Given the description of an element on the screen output the (x, y) to click on. 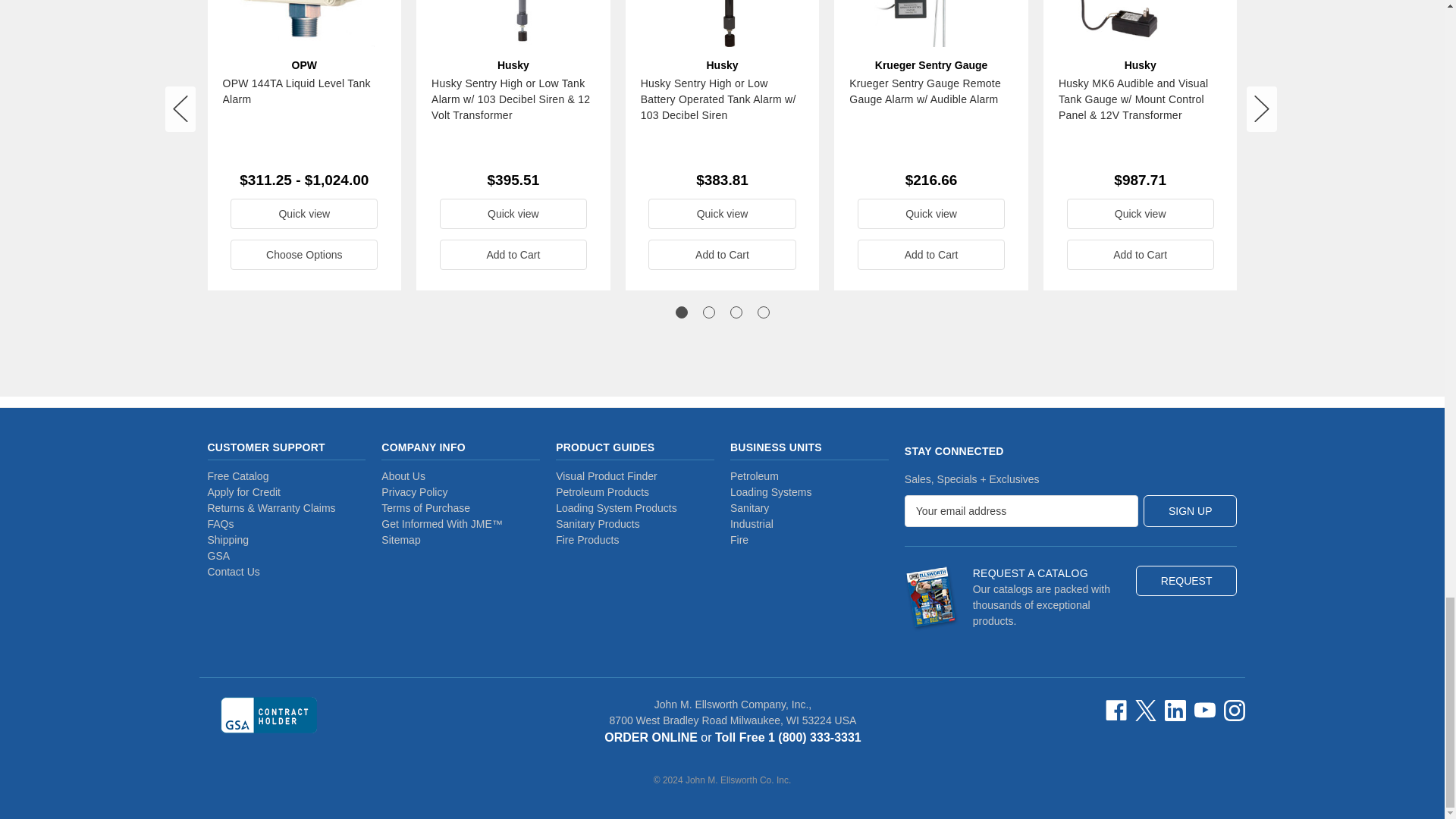
SIGN UP (1189, 511)
